Given the description of an element on the screen output the (x, y) to click on. 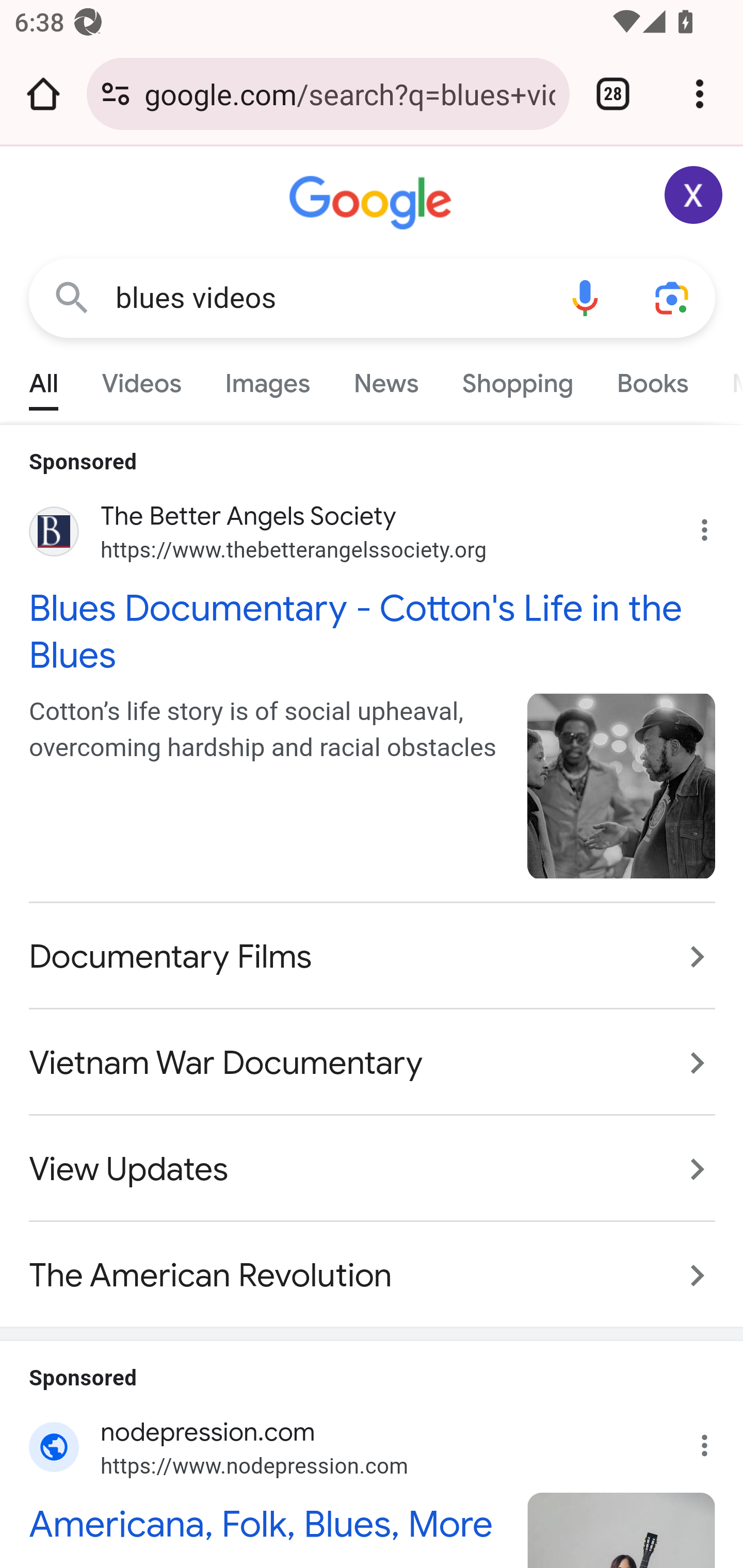
Open the home page (43, 93)
Connection is secure (115, 93)
Switch or close tabs (612, 93)
Customize and control Google Chrome (699, 93)
Google (372, 203)
Google Account: Xiaoran (zxrappiumtest@gmail.com) (694, 195)
Google Search (71, 296)
Search using your camera or photos (672, 296)
blues videos (328, 297)
Videos (141, 378)
Images (267, 378)
News (385, 378)
Shopping (516, 378)
Books (652, 378)
Why this ad? (714, 525)
Blues Documentary - Cotton's Life in the Blues (372, 631)
Image from thebetterangelssociety.org (621, 786)
Documentary Films (372, 957)
Vietnam War Documentary (372, 1063)
View Updates (372, 1170)
The American Revolution (372, 1264)
Why this ad? (714, 1439)
Americana, Folk, Blues, More (266, 1524)
